Given the description of an element on the screen output the (x, y) to click on. 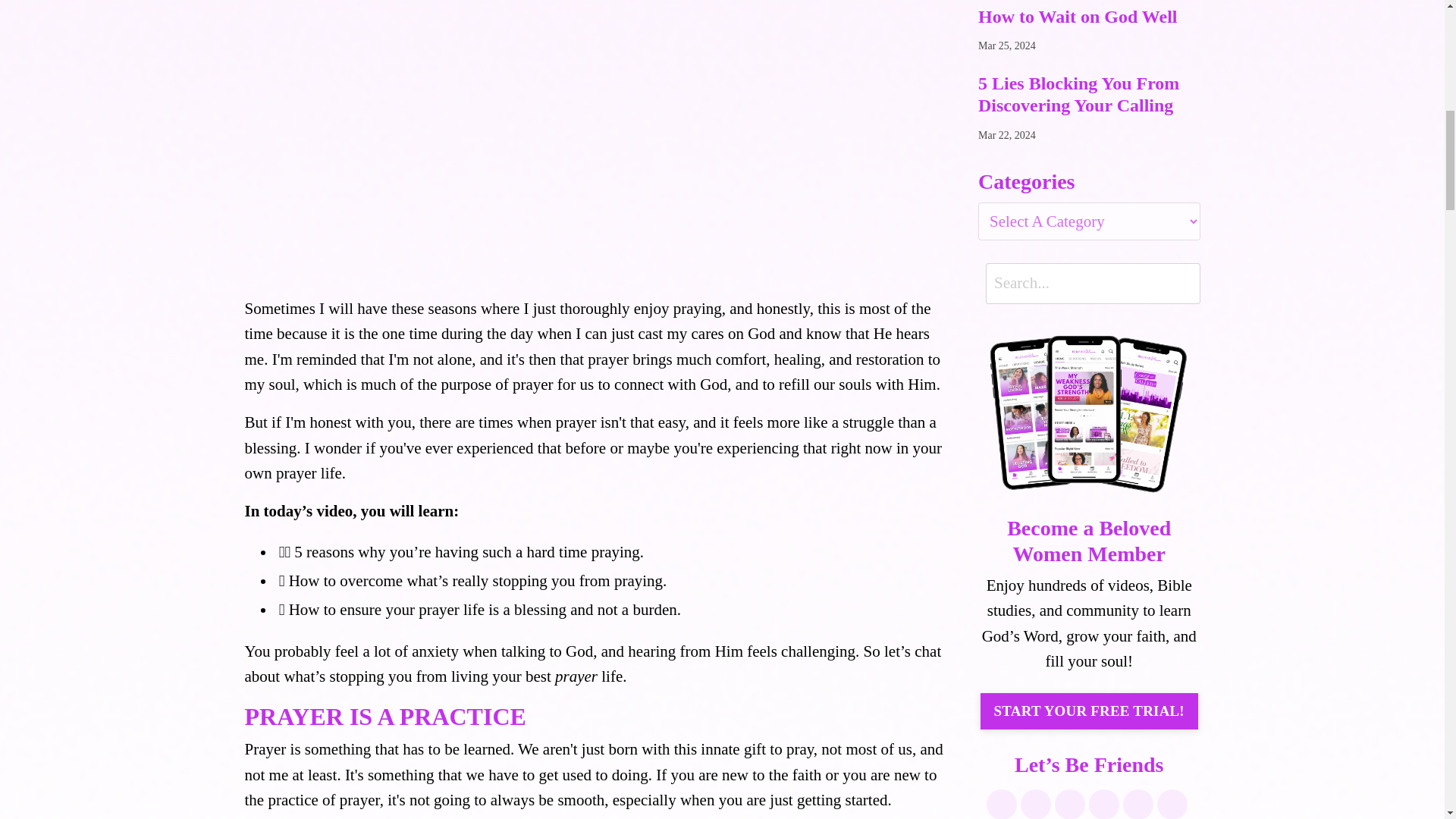
5 Lies Blocking You From Discovering Your Calling (1088, 94)
START YOUR FREE TRIAL! (1088, 710)
How to Wait on God Well (1088, 16)
